Given the description of an element on the screen output the (x, y) to click on. 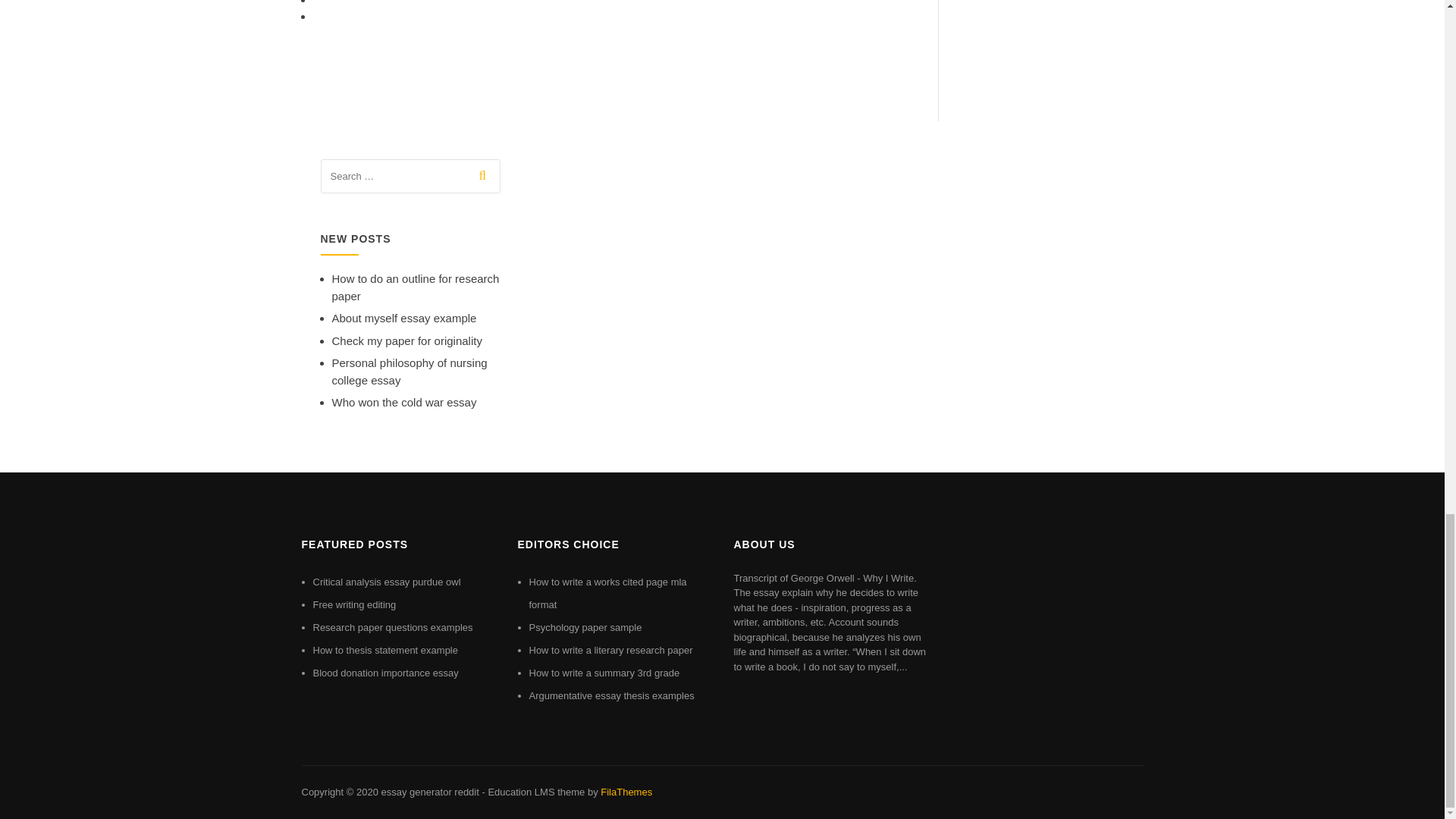
Who won the cold war essay (404, 401)
Blood donation importance essay (385, 672)
Free writing editing (354, 604)
Personal philosophy of nursing college essay (409, 371)
How to write a literary research paper (611, 650)
How to write a summary 3rd grade (604, 672)
Critical analysis essay purdue owl (386, 582)
Research paper questions examples (392, 627)
Psychology paper sample (585, 627)
About myself essay example (404, 318)
How to do an outline for research paper (415, 286)
essay generator reddit (429, 791)
How to thesis statement example (385, 650)
essay generator reddit (429, 791)
How to write a works cited page mla format (608, 593)
